Given the description of an element on the screen output the (x, y) to click on. 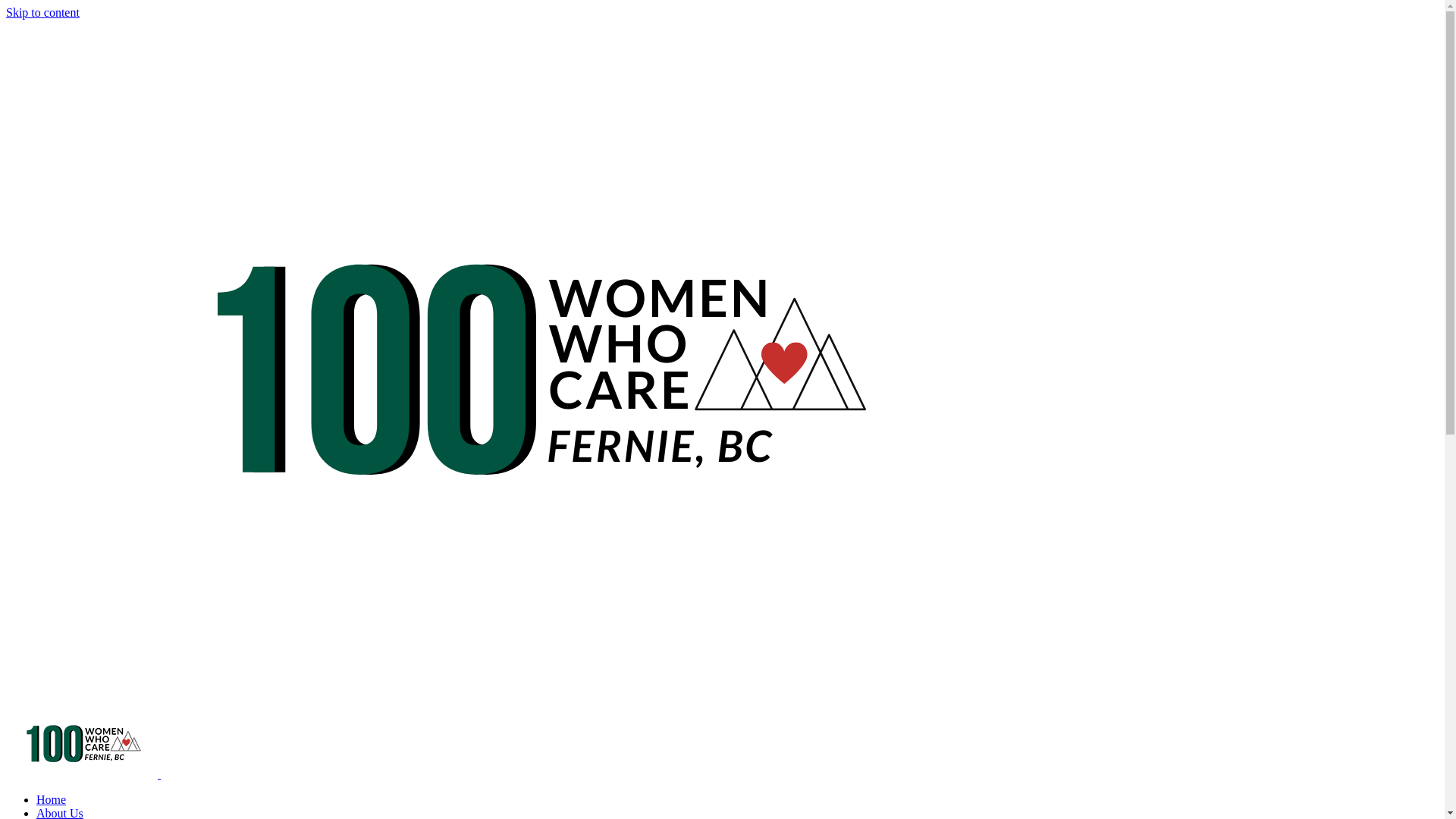
Home Element type: text (50, 799)
Skip to content Element type: text (42, 12)
